Given the description of an element on the screen output the (x, y) to click on. 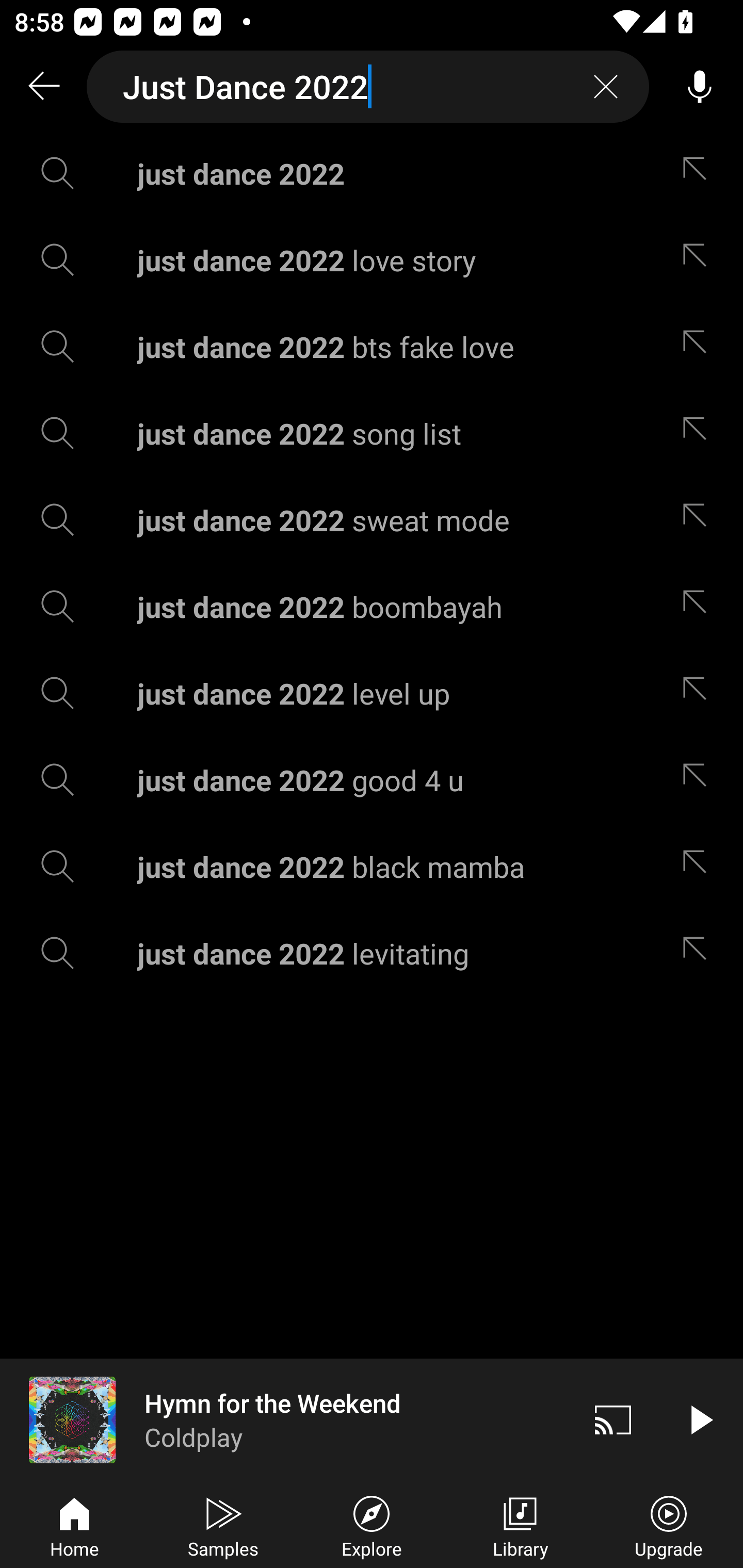
Search back (43, 86)
Just Dance 2022 (367, 86)
Clear search (605, 86)
Voice search (699, 86)
just dance 2022 Edit suggestion just dance 2022 (371, 173)
Edit suggestion just dance 2022 (699, 173)
Edit suggestion just dance 2022 love story (699, 259)
Edit suggestion just dance 2022 bts fake love (699, 346)
Edit suggestion just dance 2022 song list (699, 433)
Edit suggestion just dance 2022 sweat mode (699, 519)
Edit suggestion just dance 2022 boombayah (699, 605)
Edit suggestion just dance 2022 level up (699, 692)
Edit suggestion just dance 2022 good 4 u (699, 779)
Edit suggestion just dance 2022 black mamba (699, 866)
Edit suggestion just dance 2022 levitating (699, 953)
Hymn for the Weekend Coldplay (284, 1419)
Cast. Disconnected (612, 1419)
Play video (699, 1419)
Home (74, 1524)
Samples (222, 1524)
Explore (371, 1524)
Library (519, 1524)
Upgrade (668, 1524)
